Given the description of an element on the screen output the (x, y) to click on. 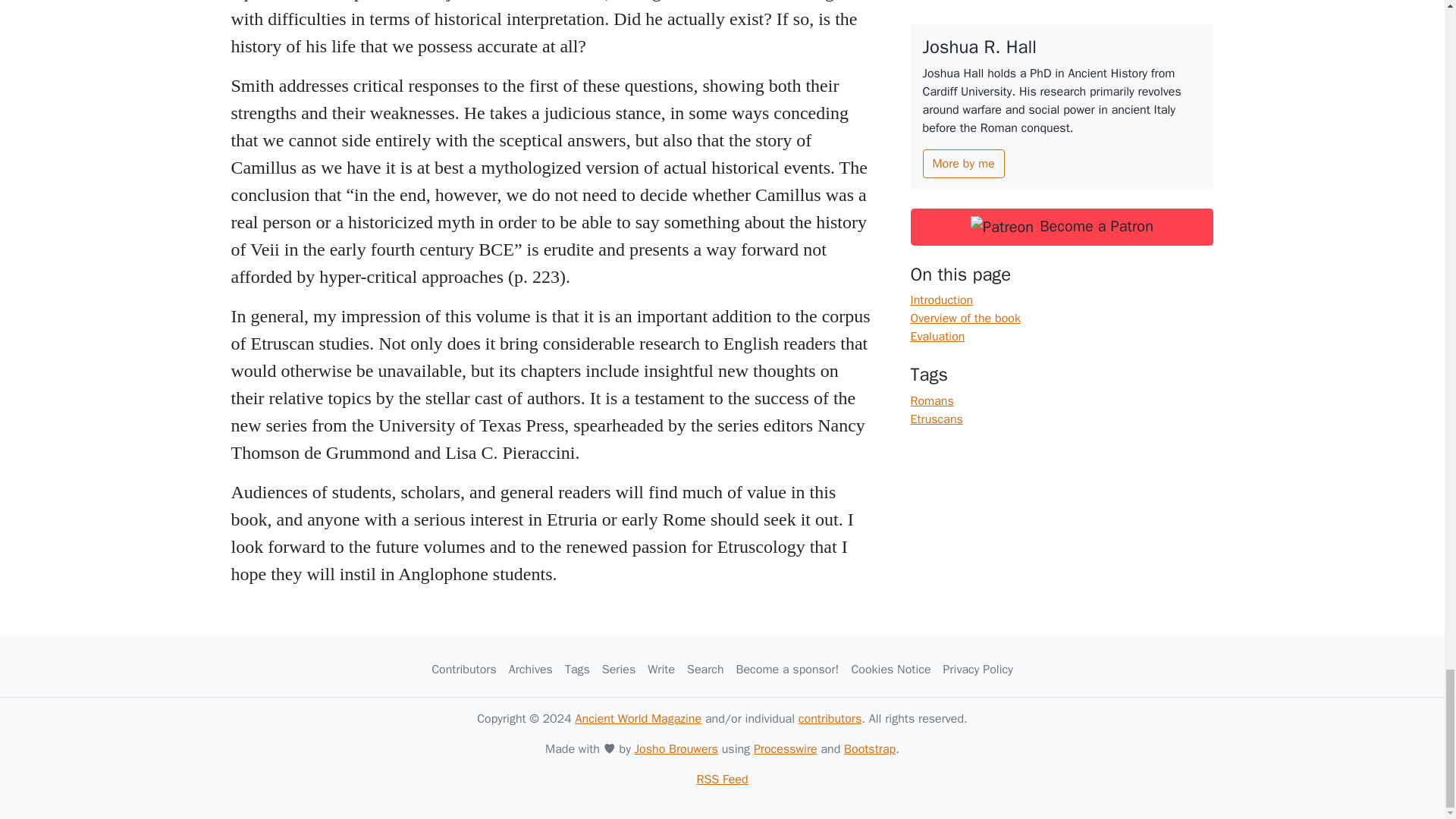
contributors (829, 718)
Search (705, 669)
Contributors (463, 669)
Bootstrap (869, 749)
Archives (530, 669)
Privacy Policy (978, 669)
Series (618, 669)
Cookies Notice (890, 669)
Become a sponsor! (787, 669)
Ancient World Magazine (638, 718)
